Given the description of an element on the screen output the (x, y) to click on. 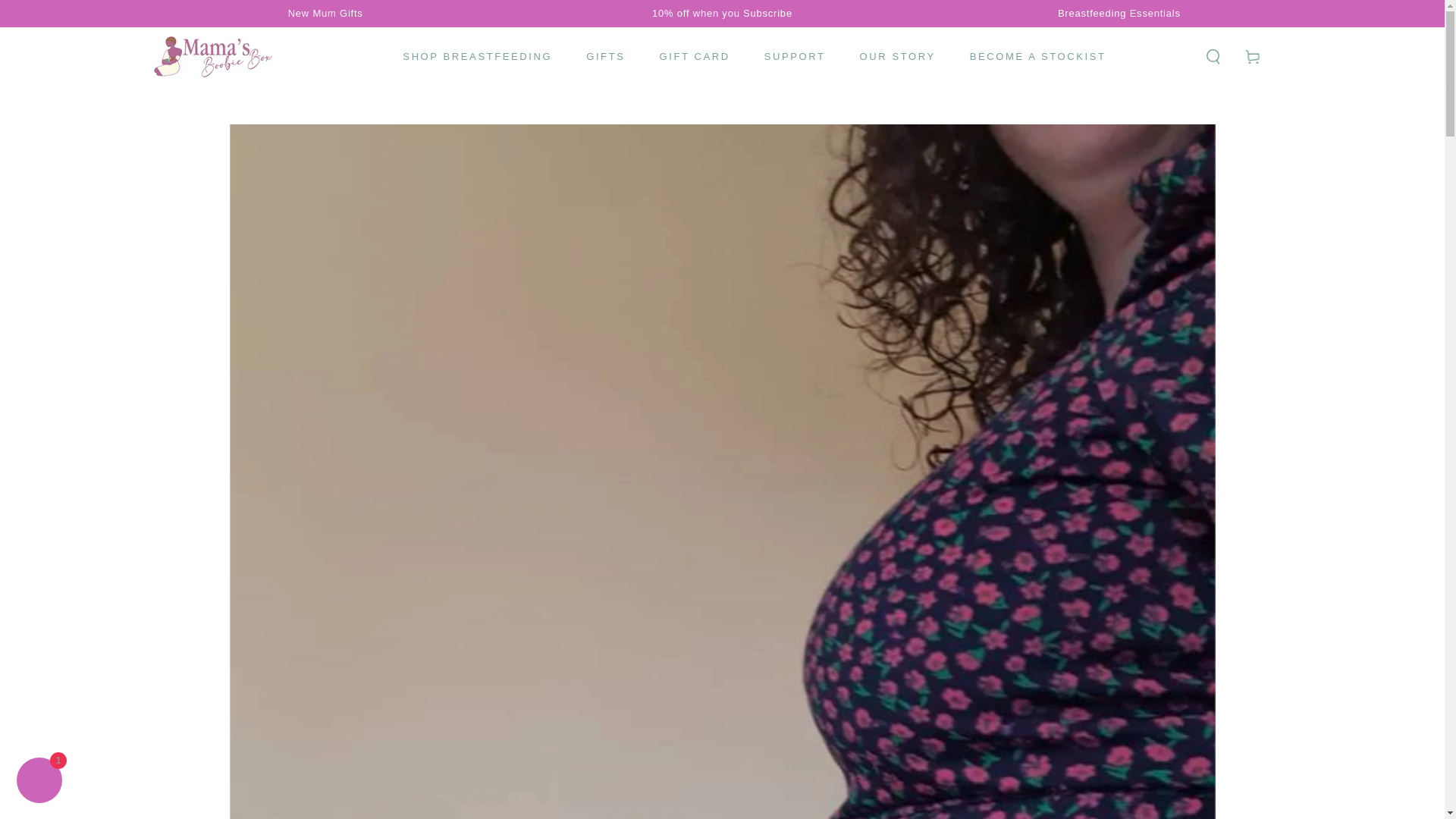
SKIP TO CONTENT (67, 14)
New Mum Gifts (325, 13)
Shopify online store chat (38, 781)
Breastfeeding Essentials (1119, 13)
